Given the description of an element on the screen output the (x, y) to click on. 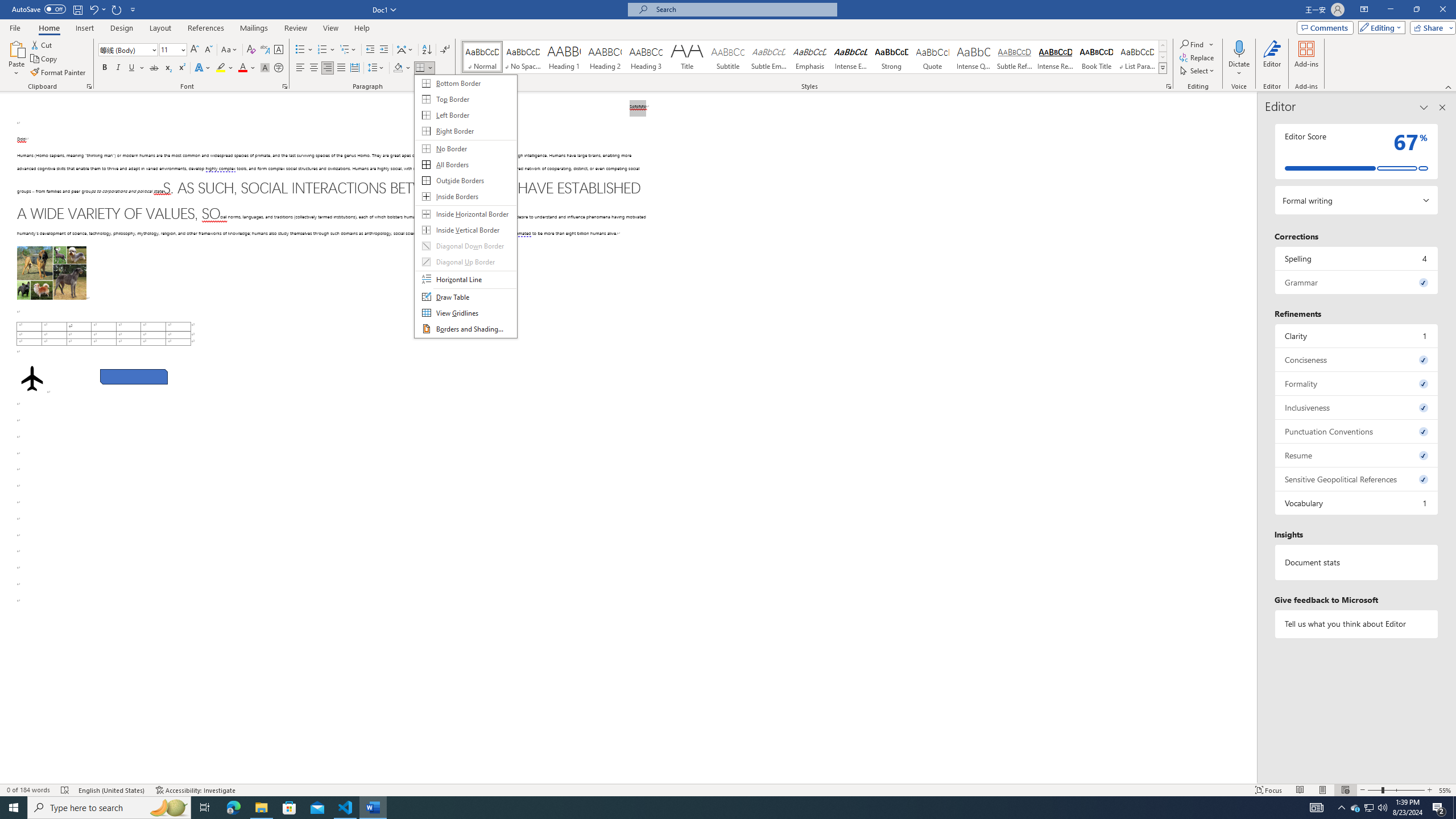
Q2790: 100% (1382, 807)
Subtitle (727, 56)
Shading (402, 67)
Font... (285, 85)
View (330, 28)
Language English (United States) (111, 790)
Action Center, 2 new notifications (1439, 807)
Undo Paragraph Alignment (96, 9)
Spelling, 4 issues. Press space or enter to review items. (1356, 258)
Borders (424, 67)
Sort... (426, 49)
Microsoft Edge (233, 807)
Borders (419, 67)
